Given the description of an element on the screen output the (x, y) to click on. 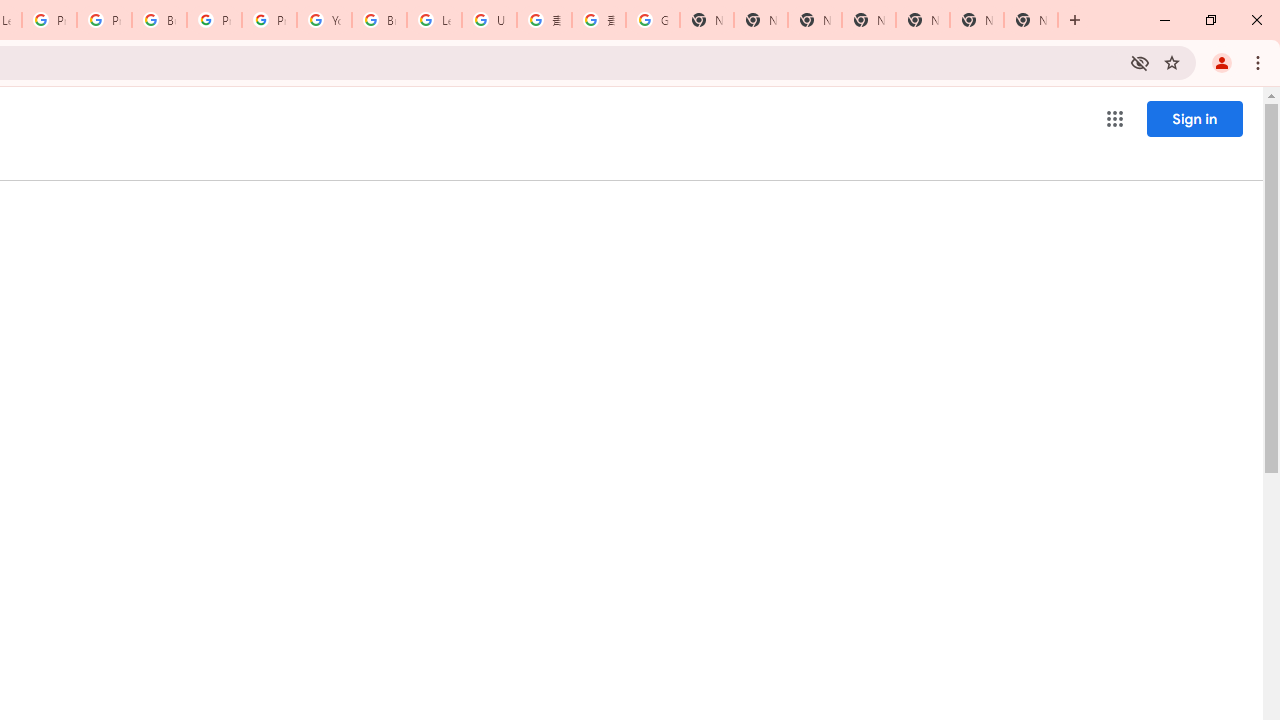
Privacy Help Center - Policies Help (48, 20)
YouTube (324, 20)
Google Images (652, 20)
Privacy Help Center - Policies Help (103, 20)
